Given the description of an element on the screen output the (x, y) to click on. 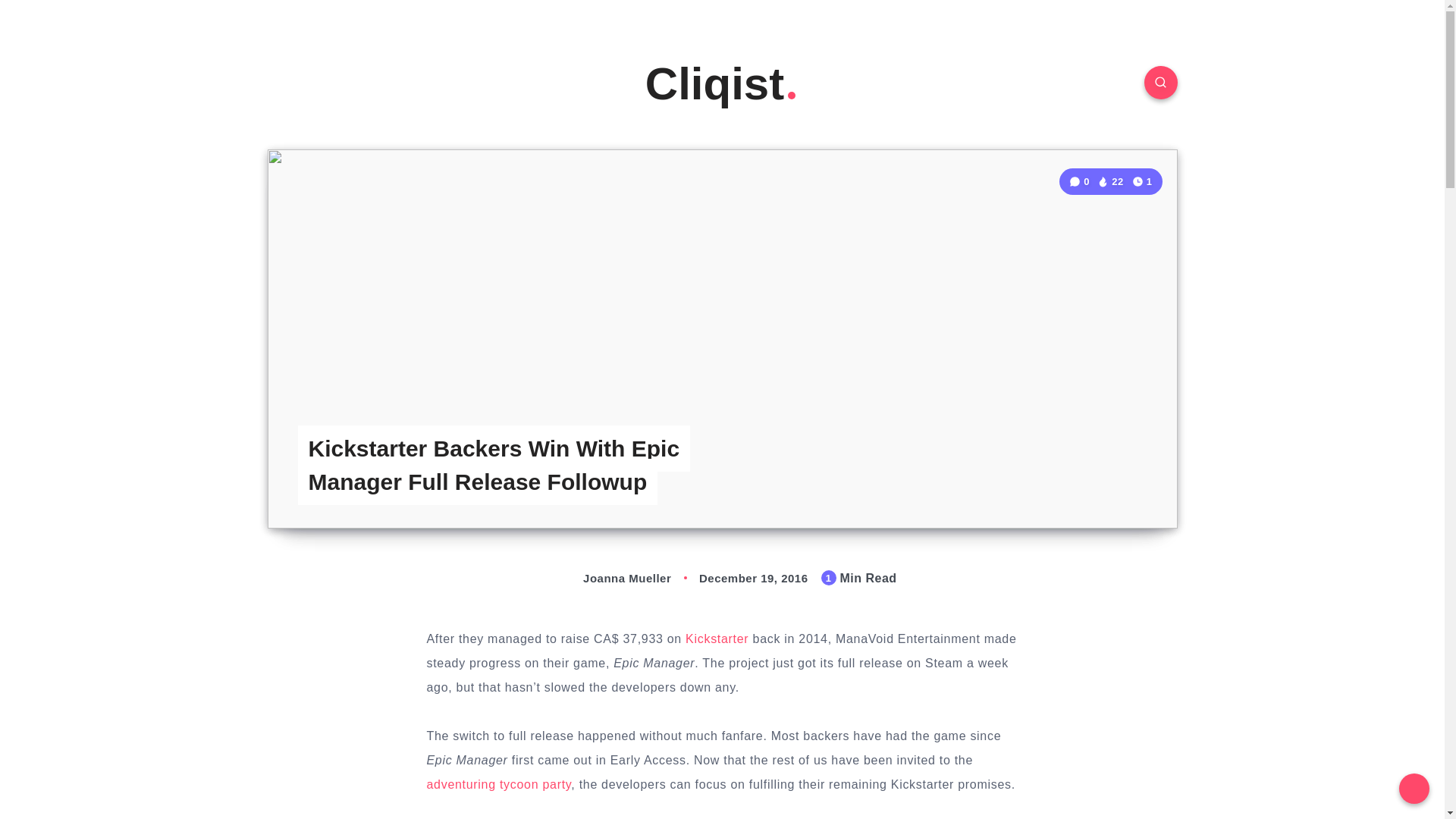
adventuring tycoon party (498, 784)
Author: Joanna Mueller (611, 577)
1 Min Read (1142, 181)
Cliqist (722, 83)
Joanna Mueller (611, 577)
Kickstarter (716, 638)
0 (1080, 181)
22 Views (1110, 181)
0 Comments (1080, 181)
